Given the description of an element on the screen output the (x, y) to click on. 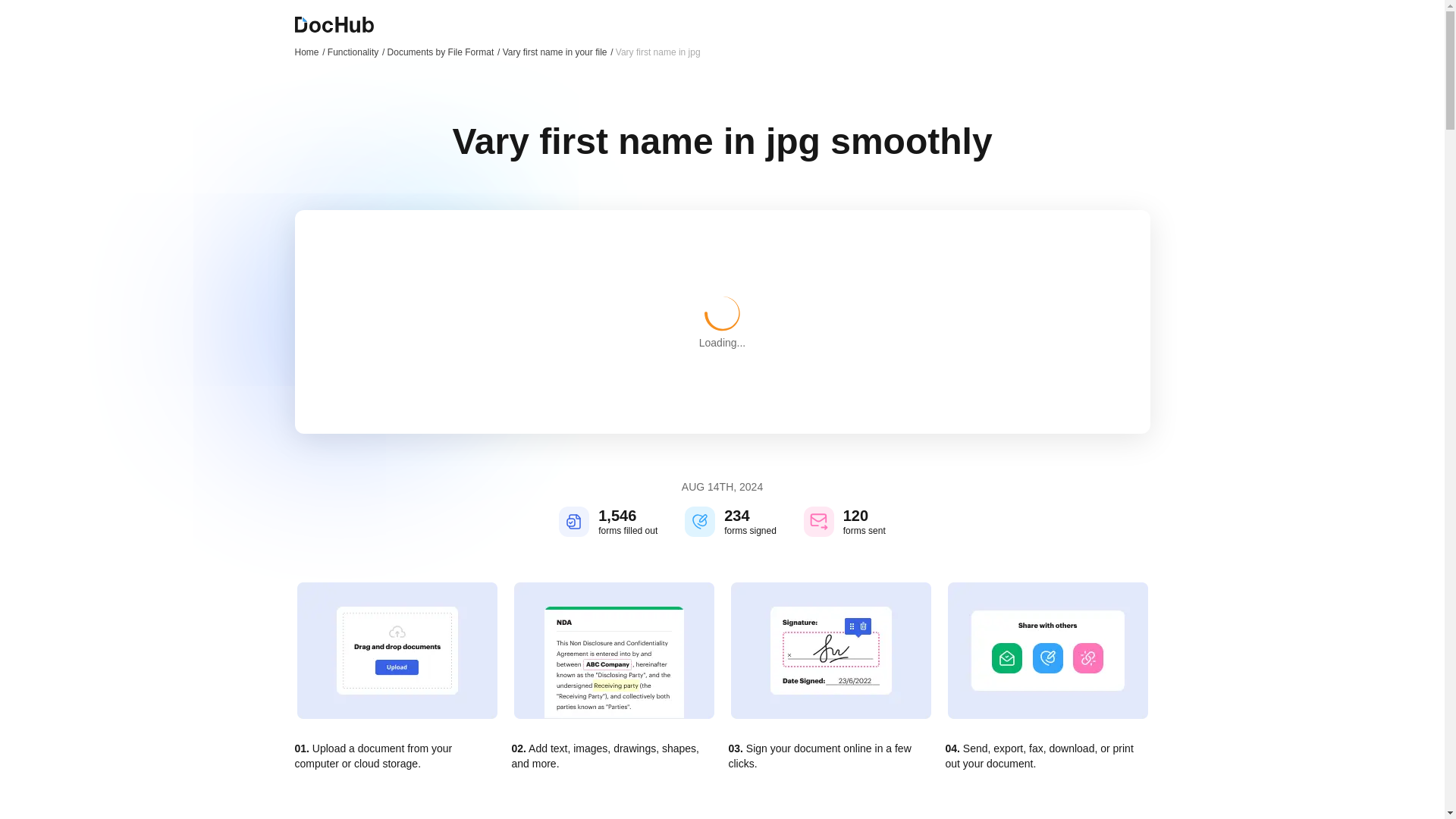
Home (309, 51)
Vary first name in your file (557, 51)
Functionality (355, 51)
Documents by File Format (443, 51)
